Given the description of an element on the screen output the (x, y) to click on. 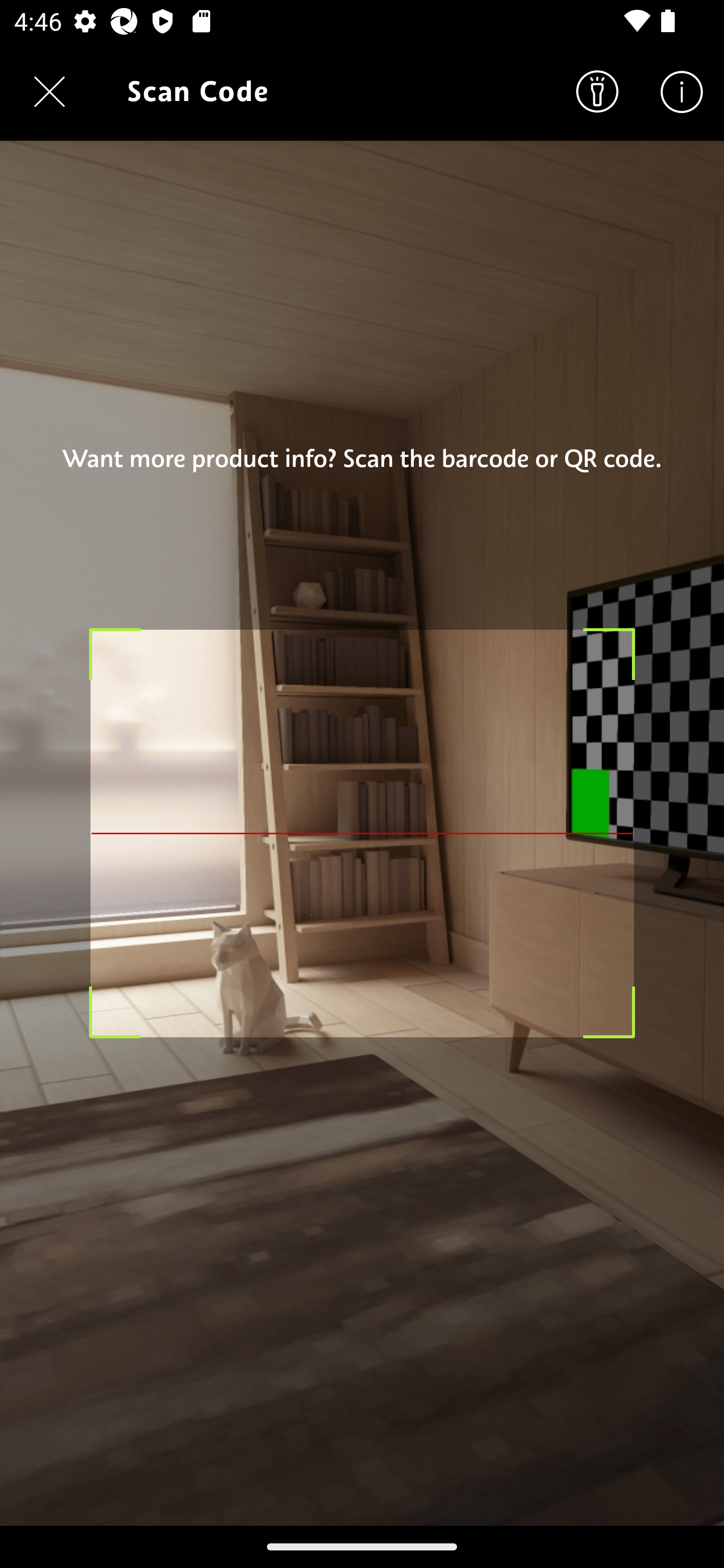
Navigate up (49, 91)
Search (597, 90)
Help (681, 90)
